Given the description of an element on the screen output the (x, y) to click on. 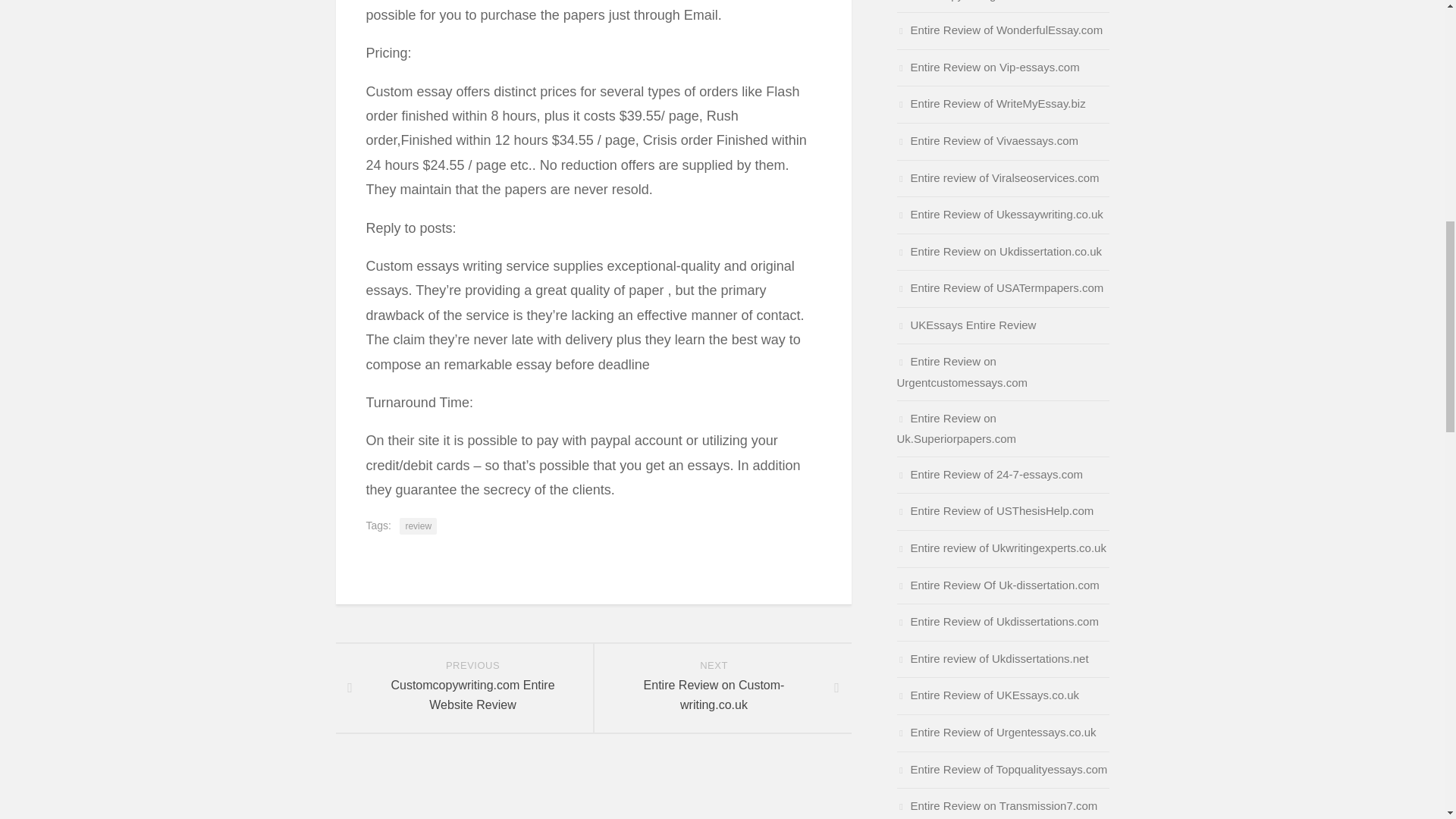
Entire Review of Vivaessays.com (986, 140)
UKEssays Entire Review (965, 324)
Entire review of Viralseoservices.com (997, 177)
Entire Review of Topqualityessays.com (1001, 768)
Entire Review of WonderfulEssay.com (999, 29)
Entire Review of Urgentessays.co.uk (996, 731)
Entire Review of 24-7-essays.com (721, 687)
Entire Review of USATermpapers.com (989, 473)
Entire Review of WriteMyEssay.biz (999, 287)
review (990, 103)
Entire Review of Ukessaywriting.co.uk (463, 687)
Entire Review of UKEssays.co.uk (417, 525)
Entire Review on Ukdissertation.co.uk (999, 214)
